Given the description of an element on the screen output the (x, y) to click on. 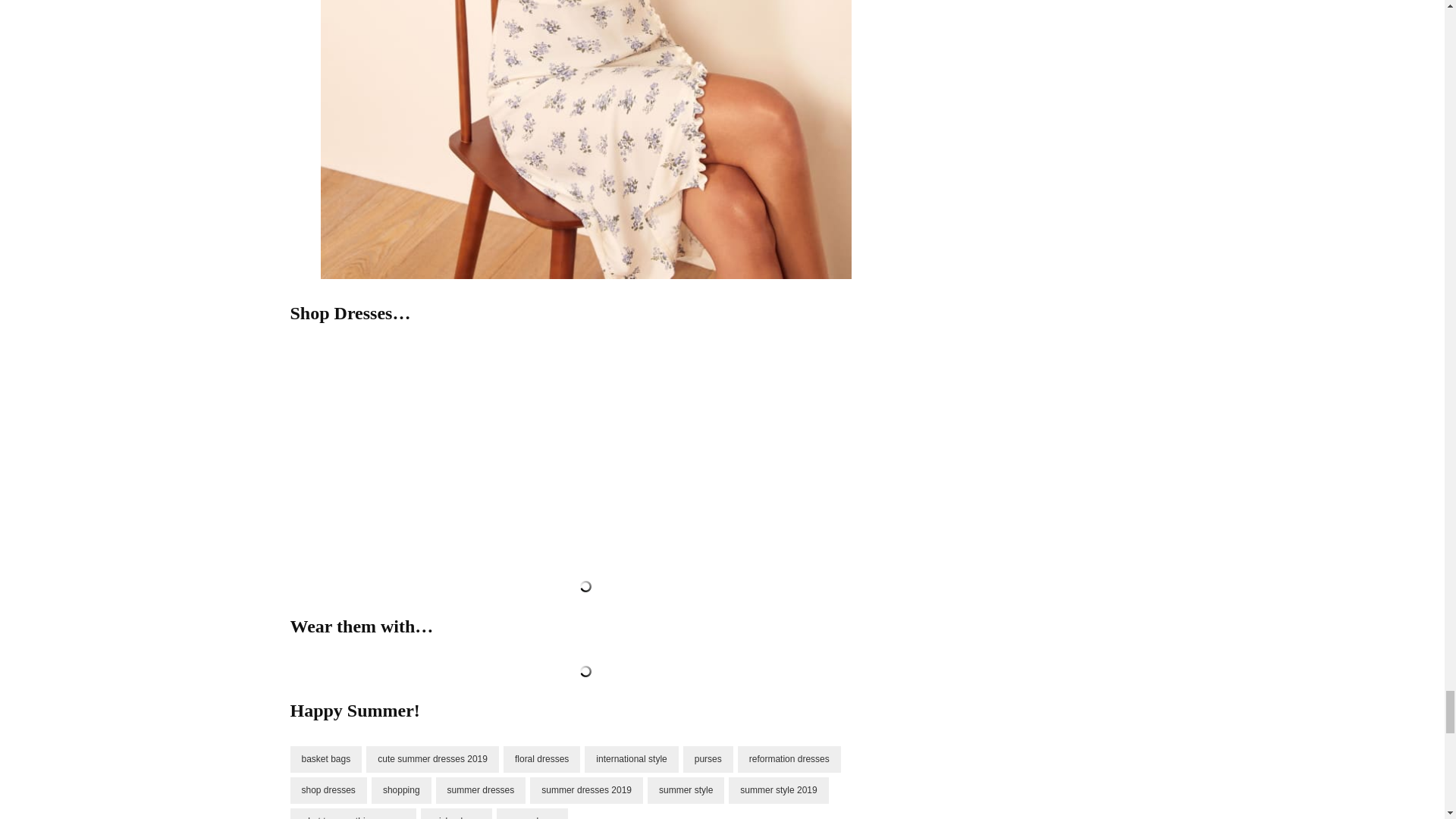
reformation dresses (789, 759)
cute summer dresses 2019 (432, 759)
purses (707, 759)
international style (631, 759)
shop dresses (327, 790)
basket bags (325, 759)
floral dresses (541, 759)
summer dresses (480, 790)
shopping (400, 790)
